Given the description of an element on the screen output the (x, y) to click on. 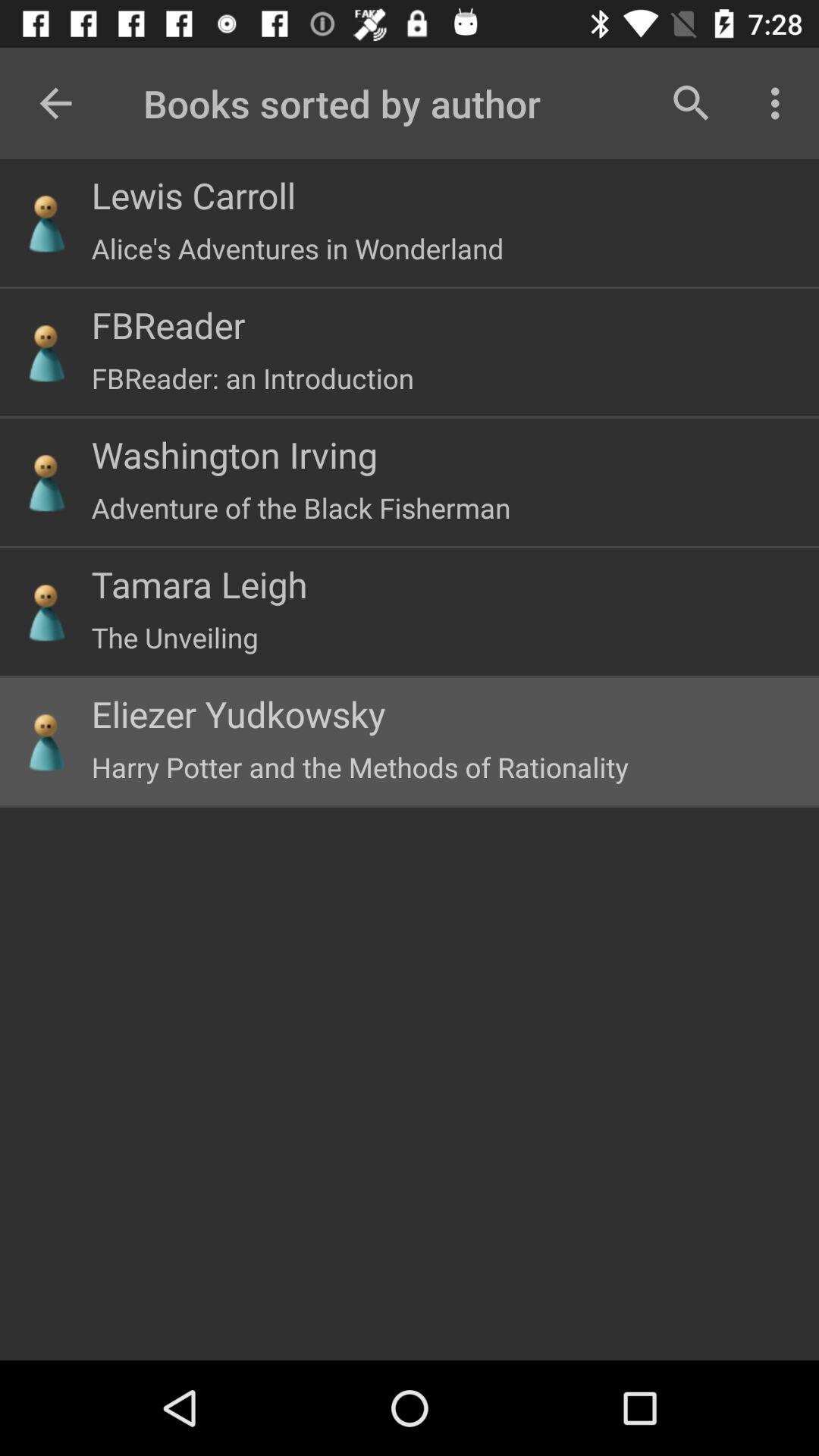
press the icon above the eliezer yudkowsky (174, 637)
